Given the description of an element on the screen output the (x, y) to click on. 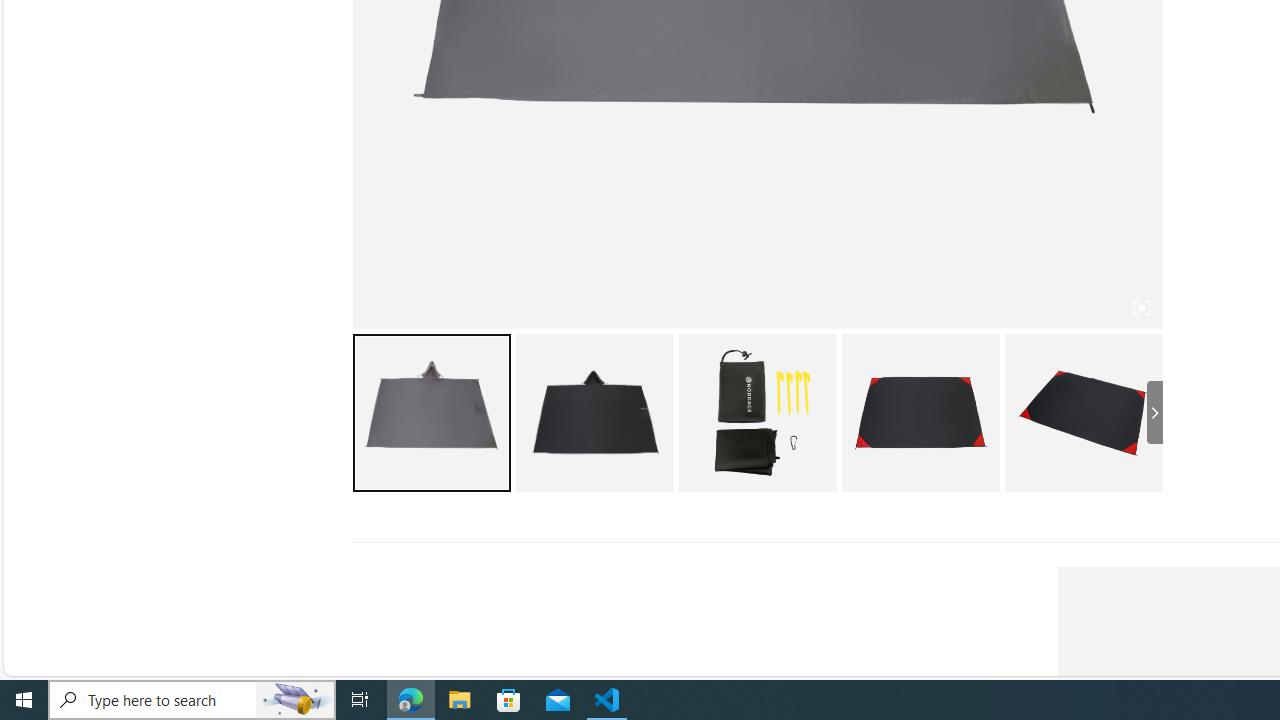
Class: iconic-woothumbs-fullscreen (1140, 307)
